Given the description of an element on the screen output the (x, y) to click on. 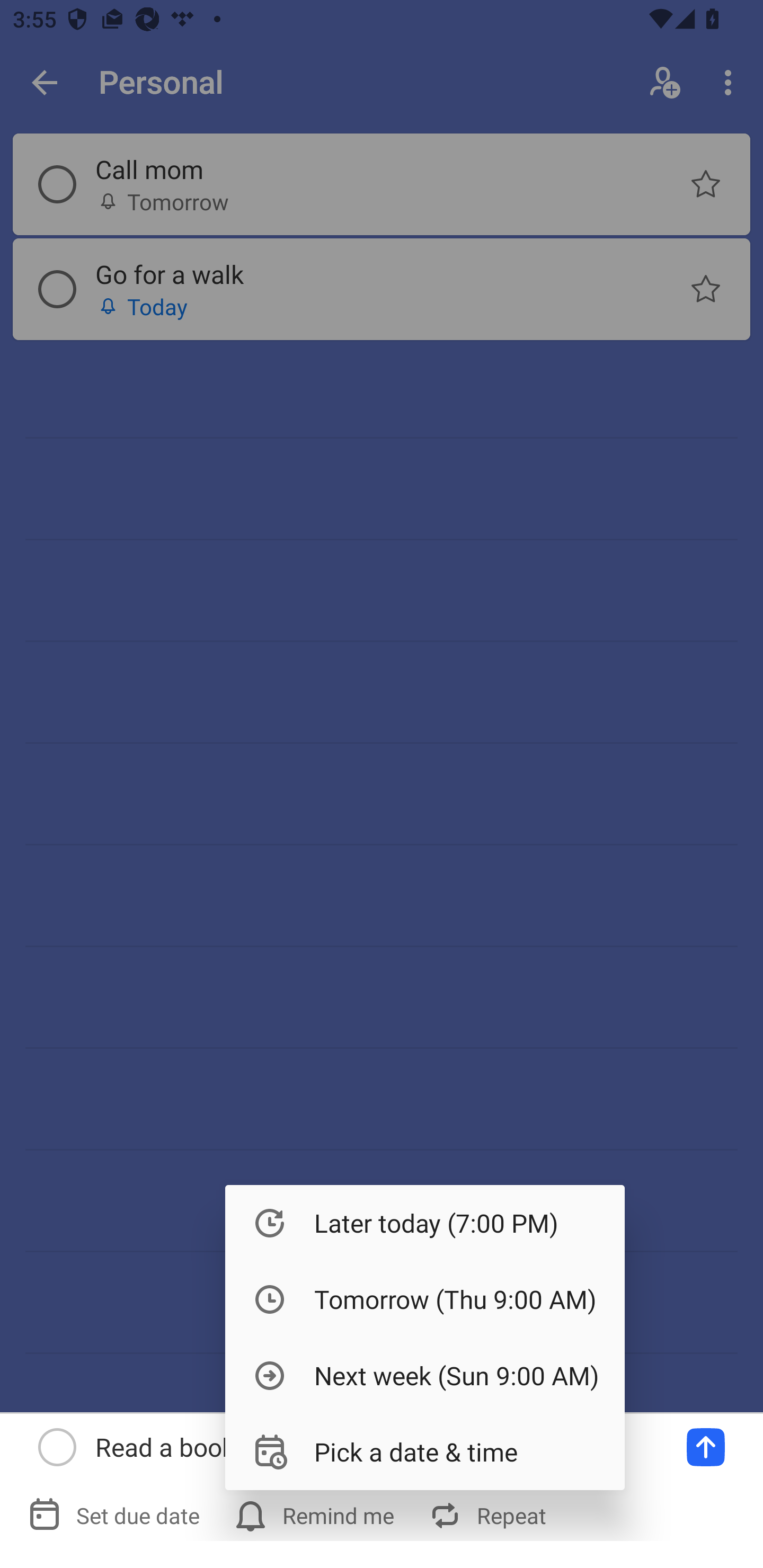
Pick a date & time4 in 4 Pick a date & time (424, 1451)
